Given the description of an element on the screen output the (x, y) to click on. 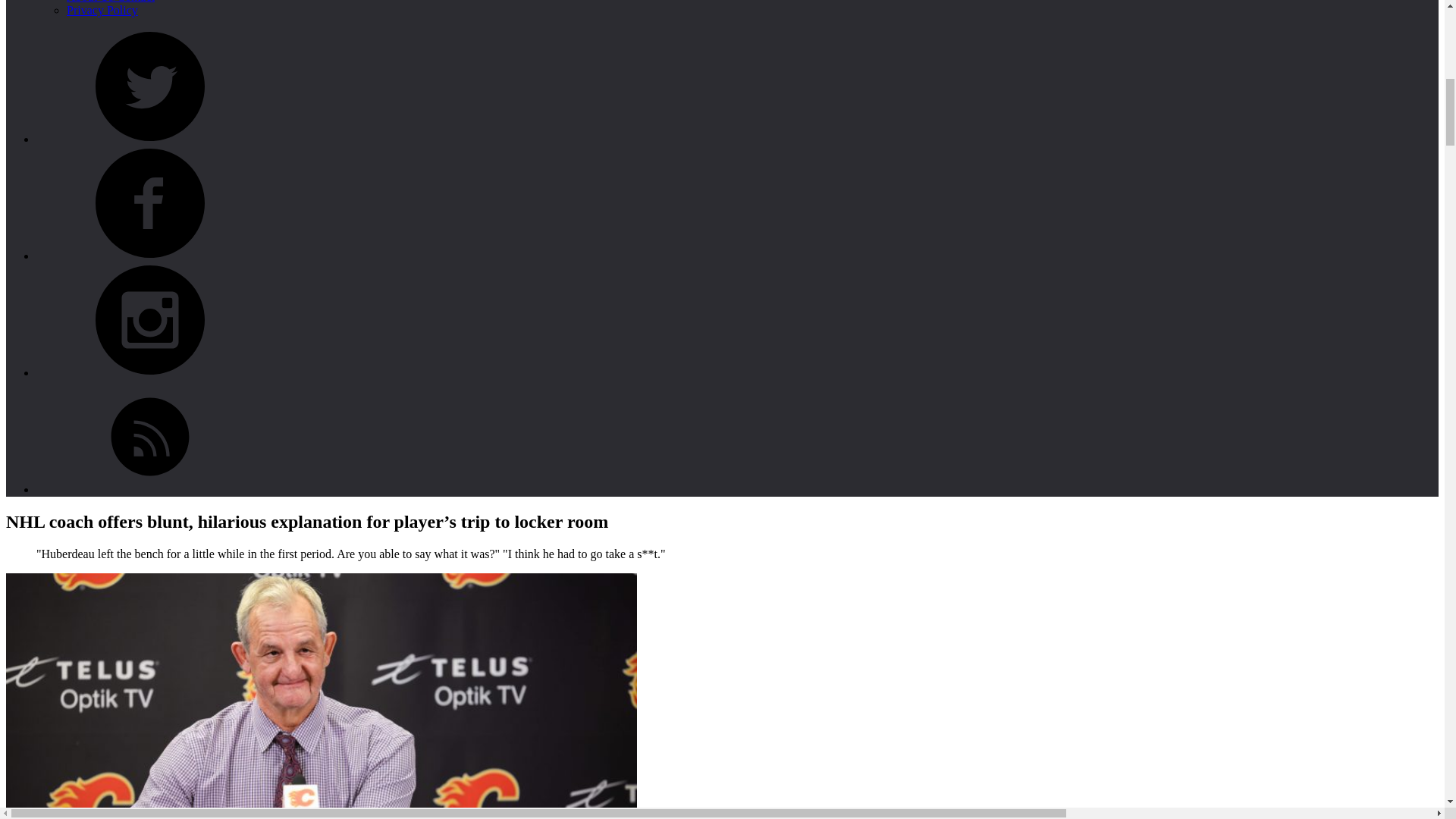
Link to RSS (149, 436)
Link to Instagram (149, 319)
Link to Twitter (149, 372)
Link to Facebook (149, 86)
Privacy Policy (149, 489)
